Given the description of an element on the screen output the (x, y) to click on. 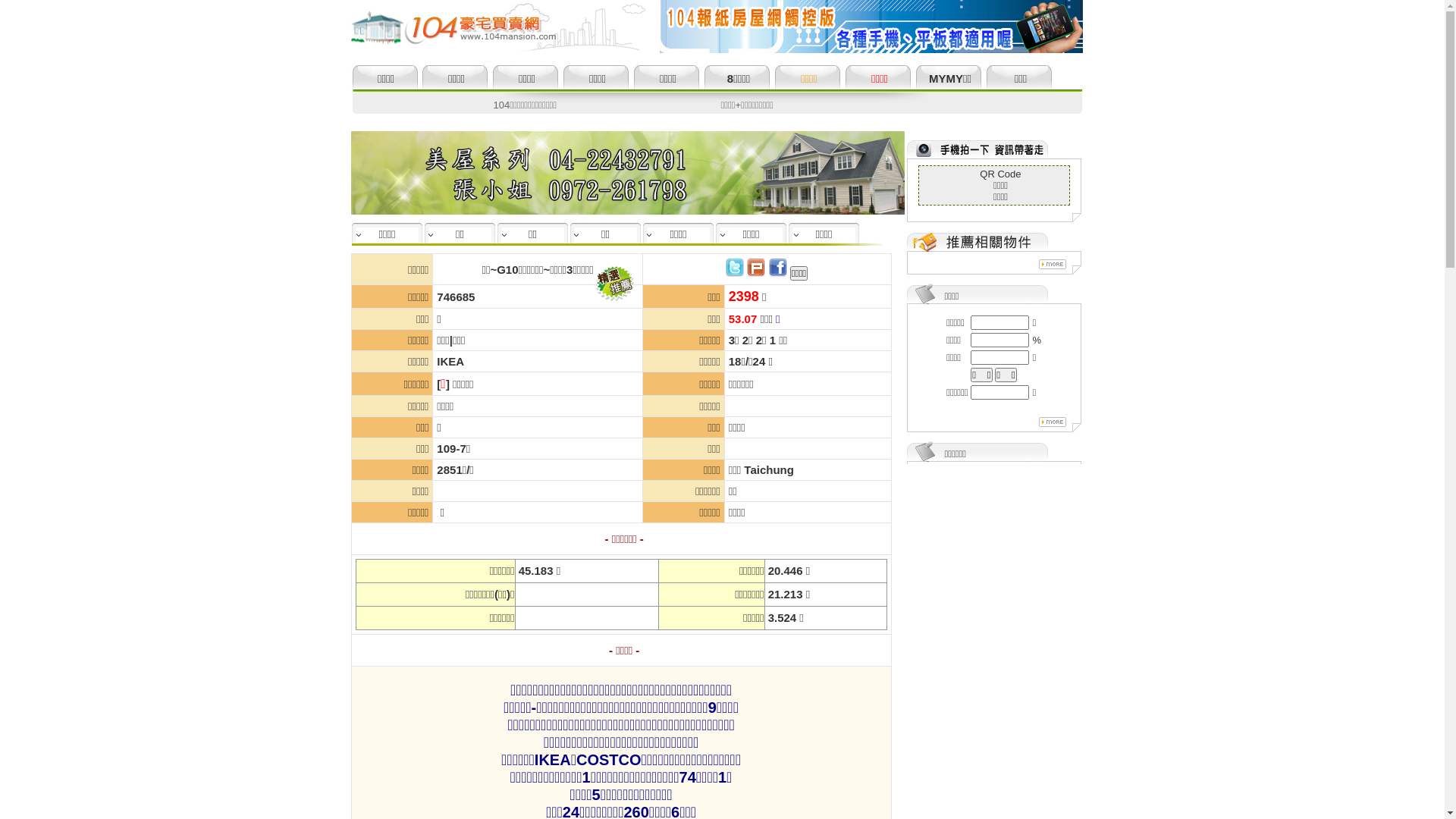
Advertisement Element type: hover (994, 630)
Advertisement Element type: hover (995, 508)
